Given the description of an element on the screen output the (x, y) to click on. 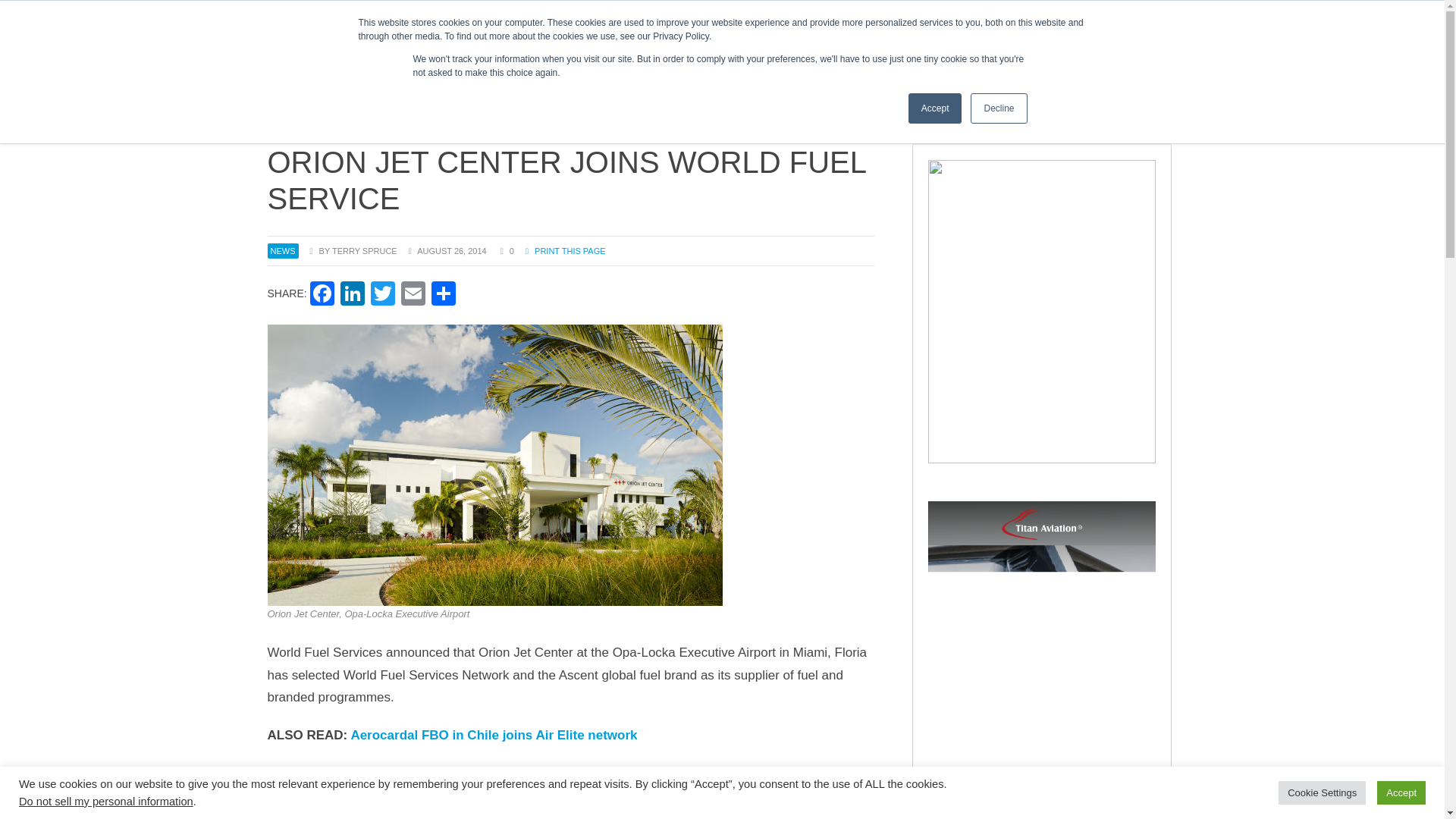
Go to top (1391, 799)
ABOUT (285, 15)
Twitter (382, 295)
CONTACT (598, 14)
NEWSLETTER (335, 15)
Email (607, 70)
OPINION (412, 295)
Accept (682, 70)
Decline (935, 108)
Facebook (998, 108)
EVENTS (322, 295)
ADVERTISE AND SPONSOR (1005, 70)
PUBLICATIONS (683, 15)
